Given the description of an element on the screen output the (x, y) to click on. 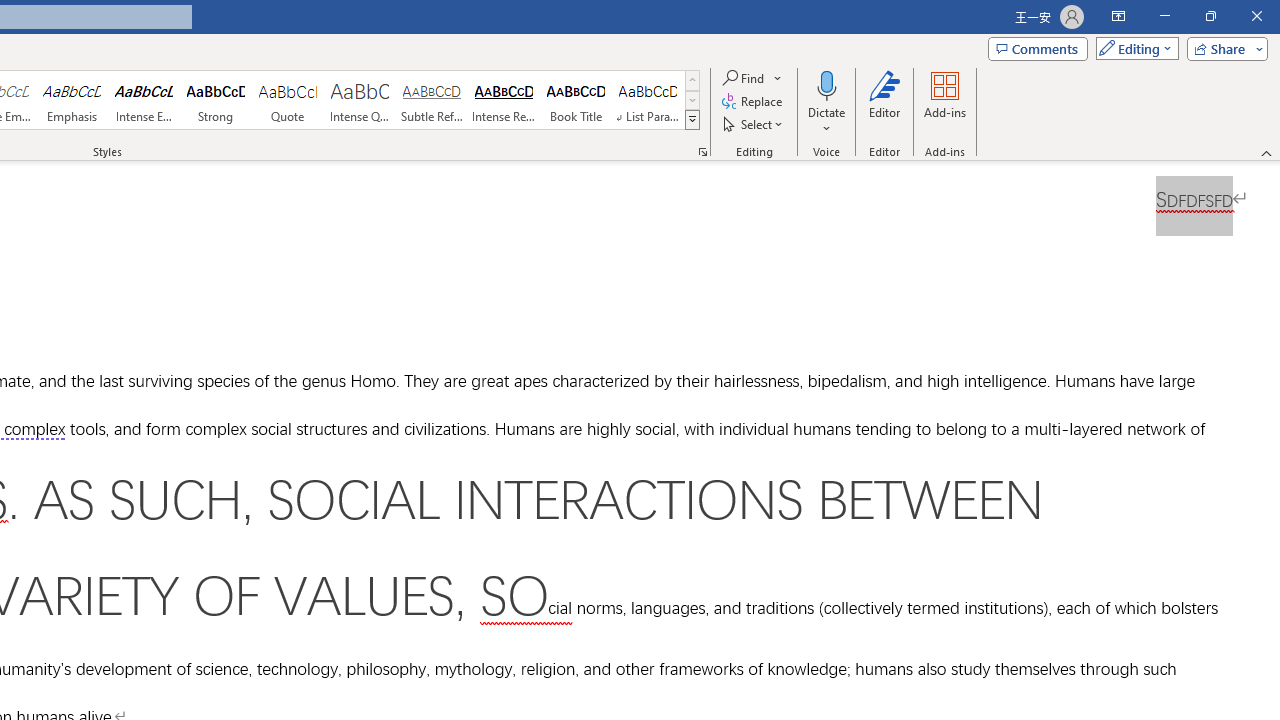
Select (754, 124)
Emphasis (71, 100)
